Given the description of an element on the screen output the (x, y) to click on. 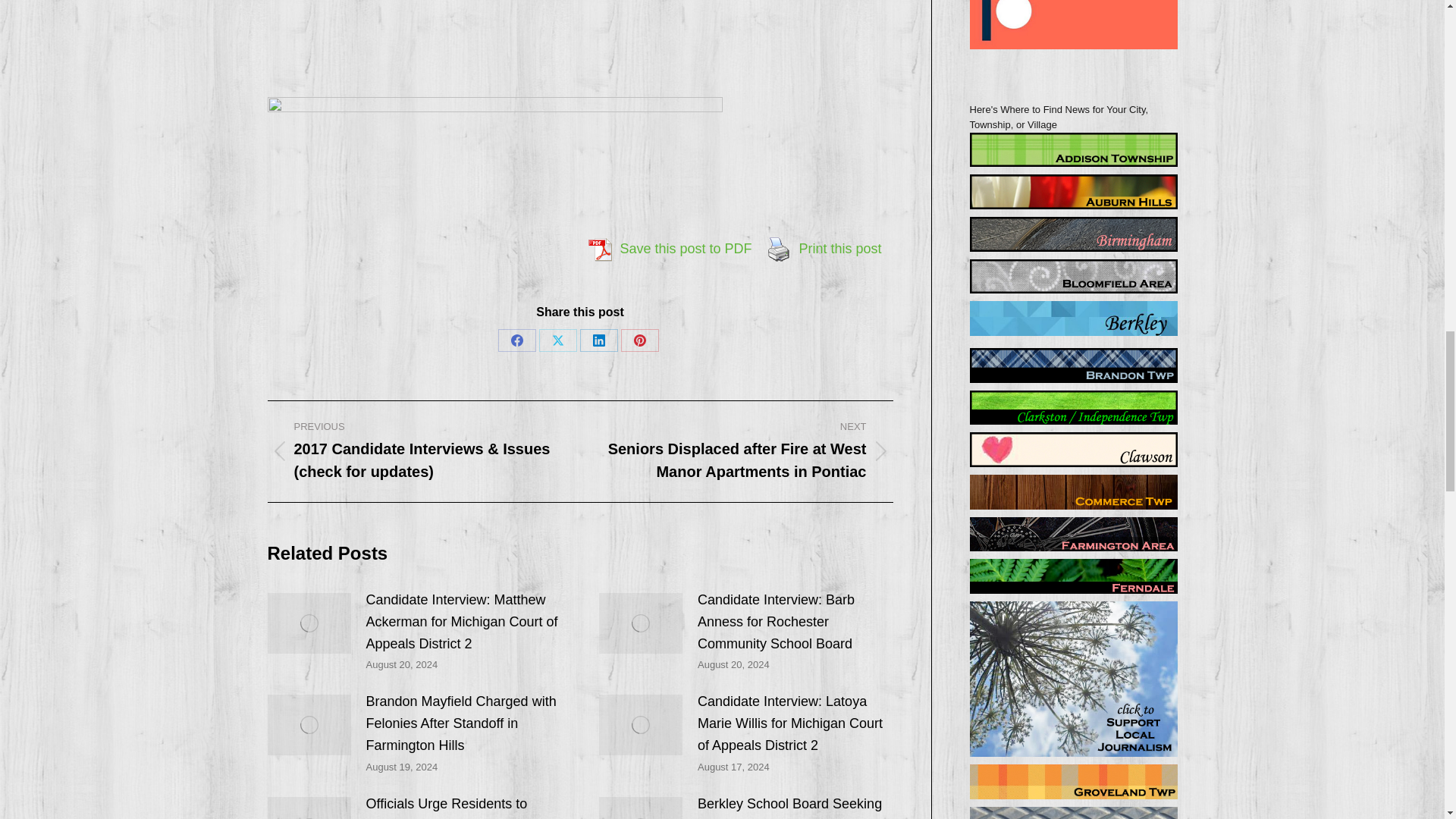
View PDF (599, 249)
X (557, 340)
Print Content (778, 249)
LinkedIn (598, 340)
Facebook (516, 340)
